Given the description of an element on the screen output the (x, y) to click on. 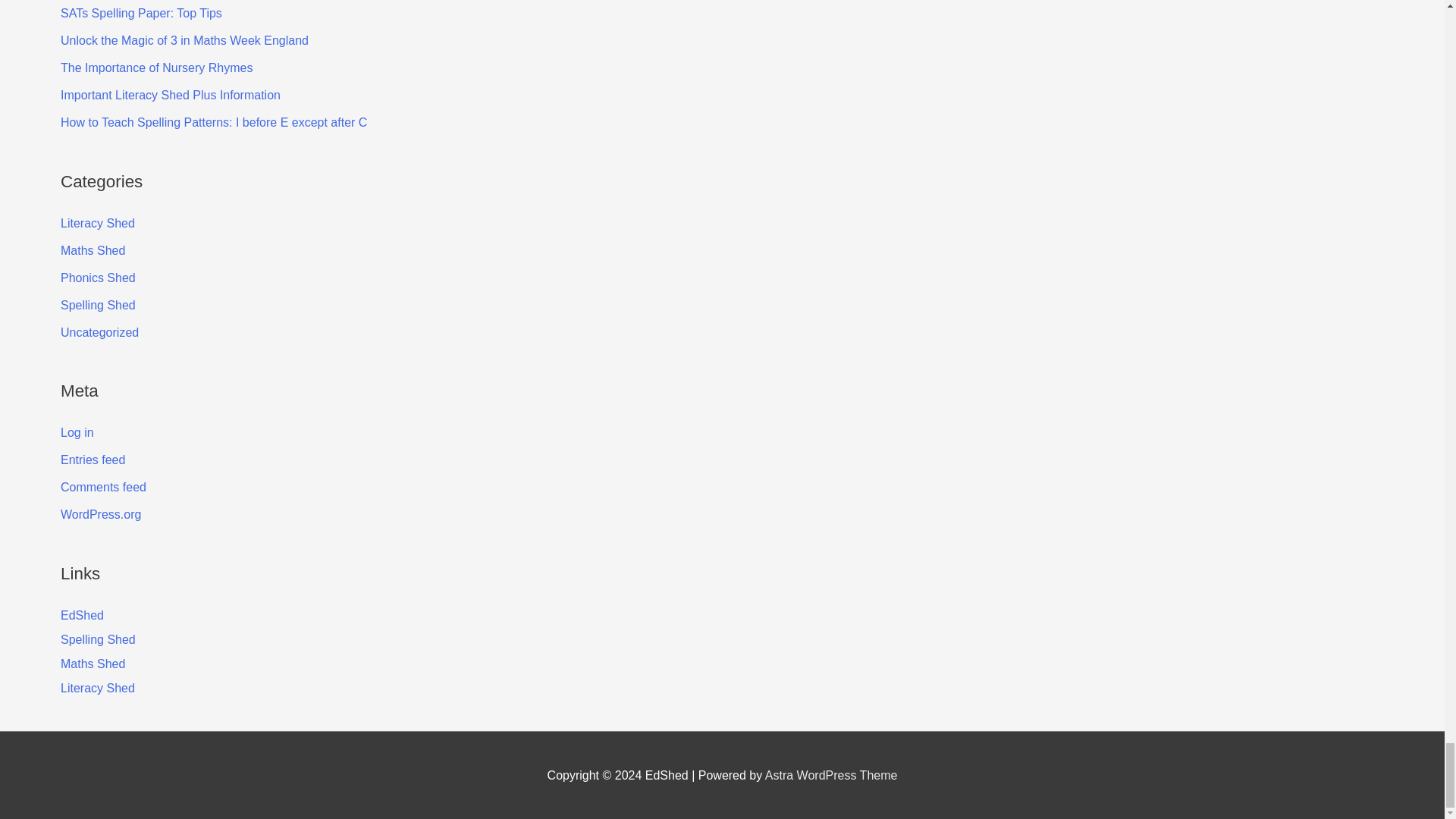
How to Teach Spelling Patterns: I before E except after C (213, 122)
Log in (77, 431)
Unlock the Magic of 3 in Maths Week England (184, 40)
WordPress.org (101, 513)
The Importance of Nursery Rhymes (156, 67)
Spelling Shed (98, 305)
Important Literacy Shed Plus Information (171, 94)
Literacy Shed (98, 223)
Uncategorized (99, 332)
EdShed (82, 615)
